Given the description of an element on the screen output the (x, y) to click on. 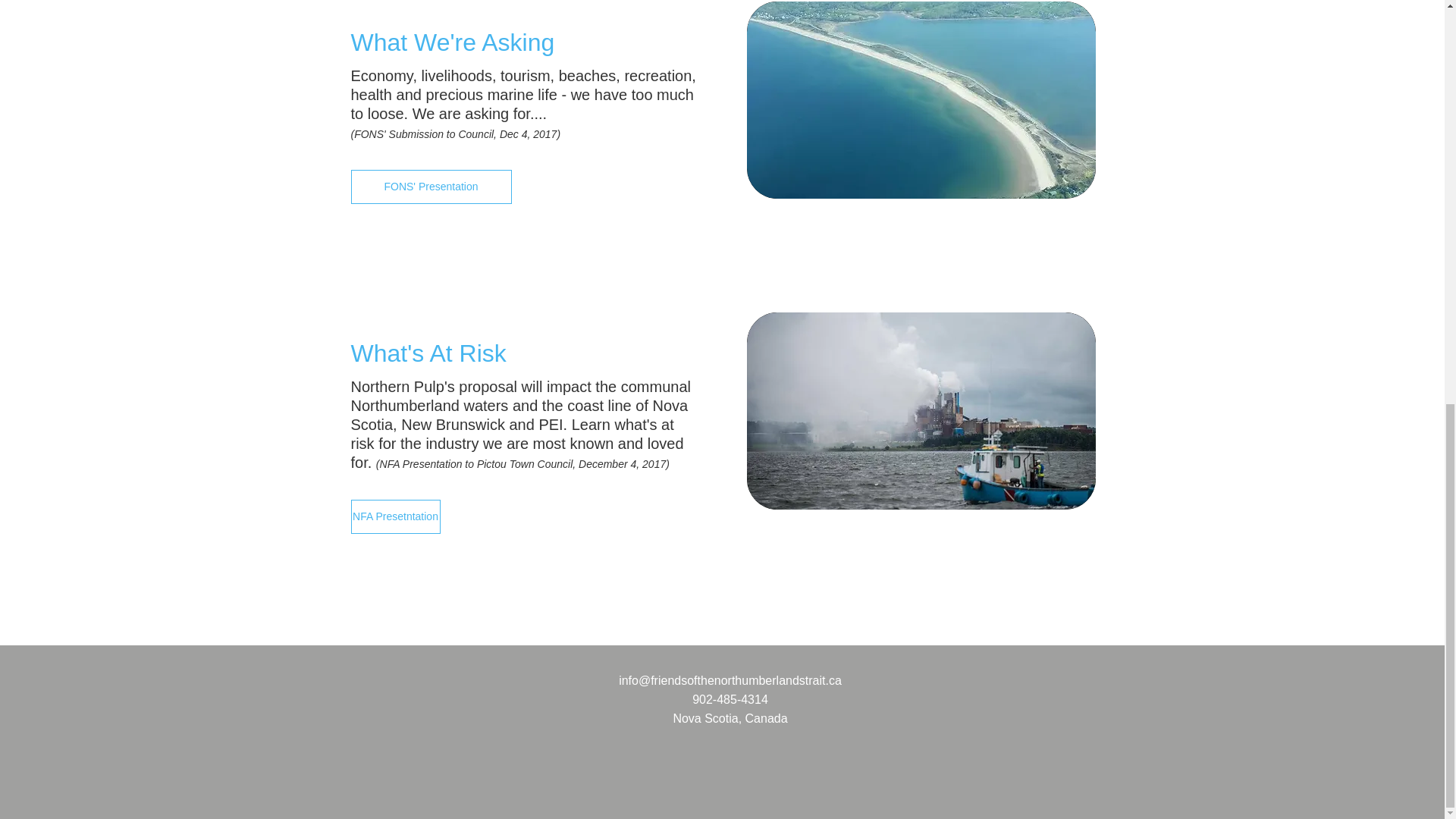
FONS' Presentation (430, 186)
NFA Presetntation (394, 516)
